Given the description of an element on the screen output the (x, y) to click on. 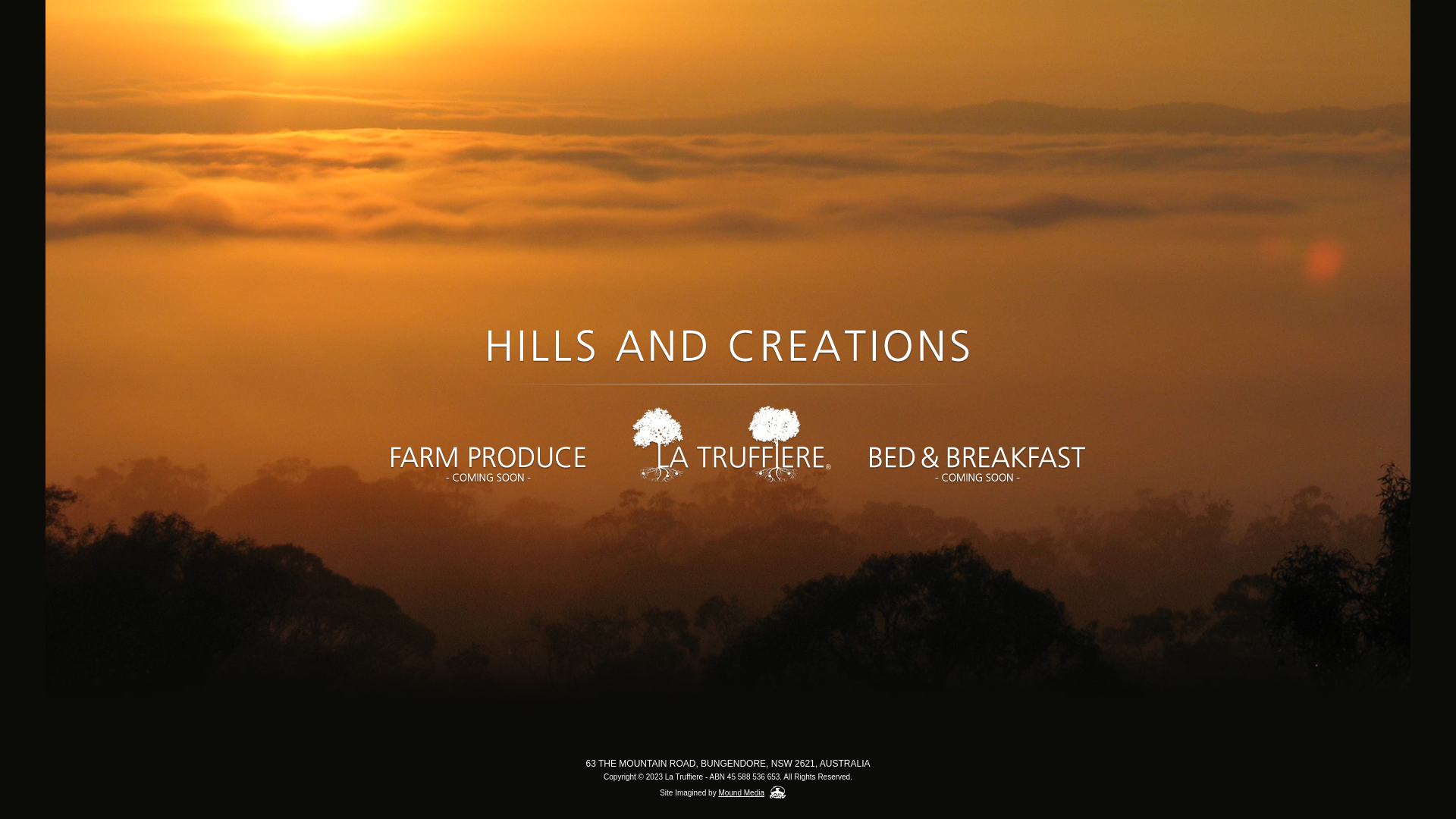
La Truffiere Element type: hover (728, 447)
Mound Media Element type: text (741, 792)
Mound Media Element type: hover (777, 792)
